Given the description of an element on the screen output the (x, y) to click on. 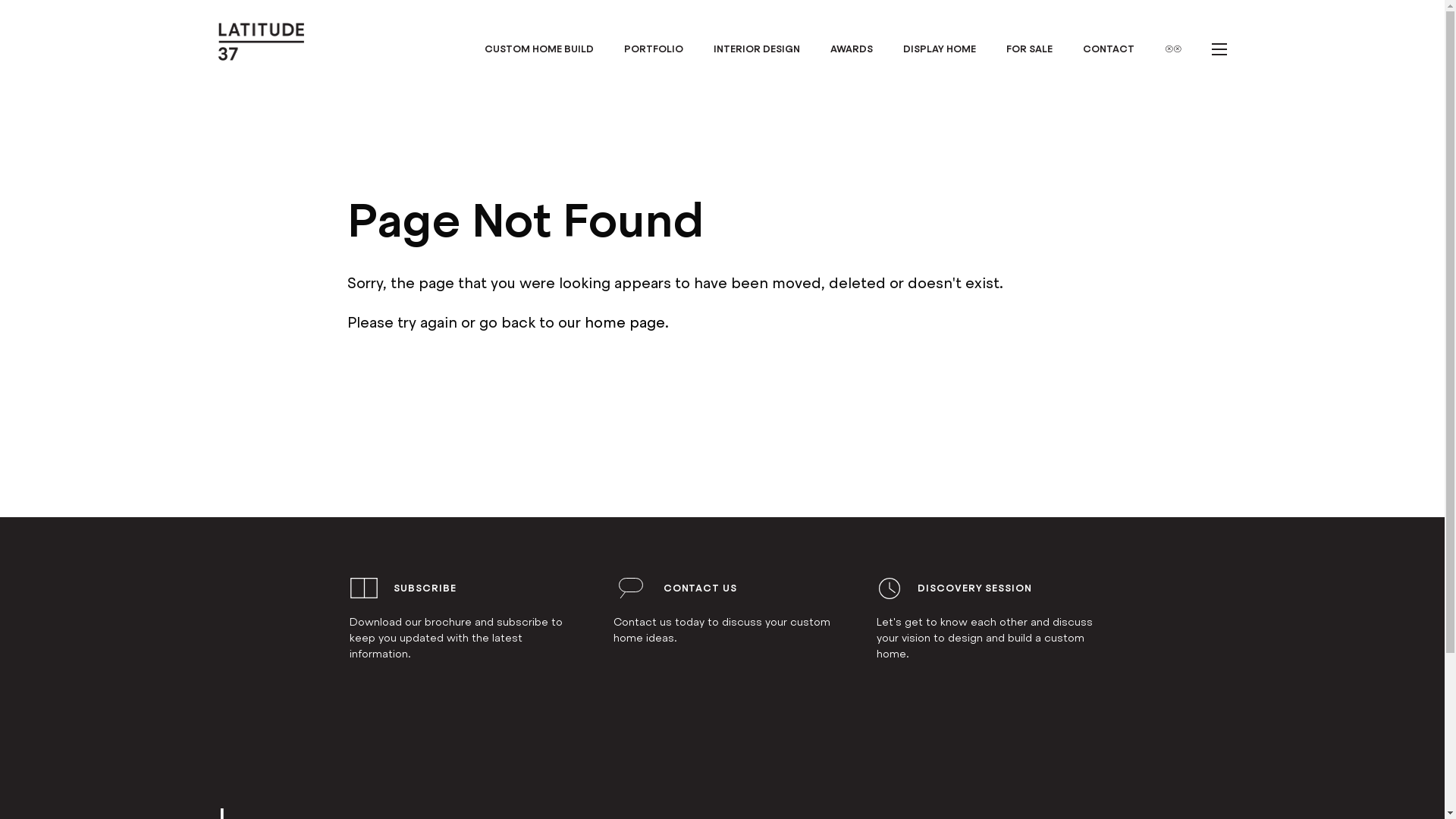
SUBSCRIBE Element type: text (424, 587)
Contact us today to discuss your custom home ideas. Element type: text (721, 629)
PORTFOLIO Element type: text (652, 48)
CUSTOM HOME BUILD Element type: text (538, 48)
CONTACT US Element type: text (700, 587)
DISPLAY HOME Element type: text (938, 48)
AWARDS Element type: text (850, 48)
DISCOVERY SESSION Element type: text (974, 587)
home page Element type: text (623, 322)
CONTACT Element type: text (1108, 48)
FOR SALE Element type: text (1028, 48)
INTERIOR DESIGN Element type: text (755, 48)
